Given the description of an element on the screen output the (x, y) to click on. 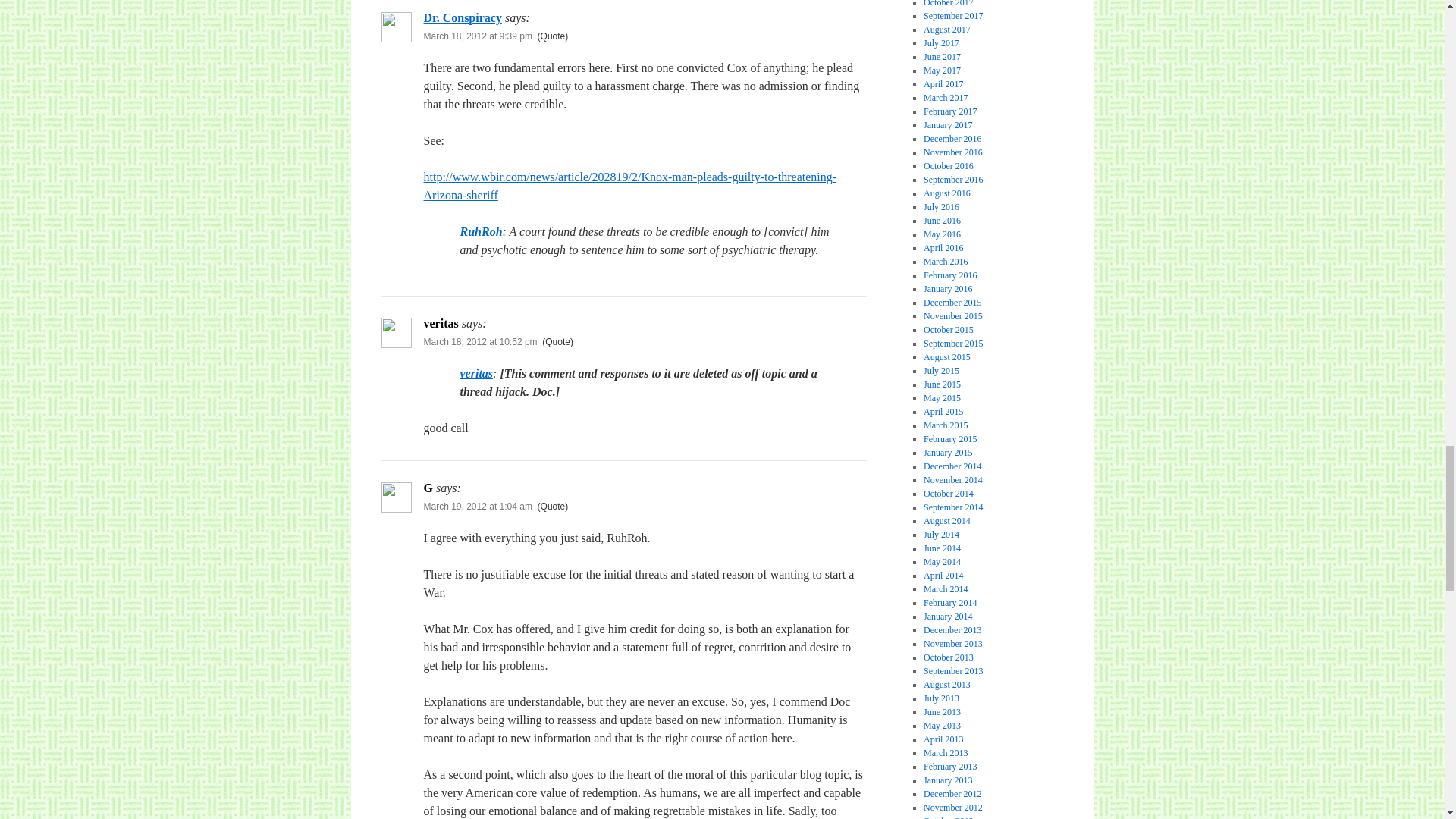
Click here or select text to quote comment (557, 341)
Click here or select text to quote comment (553, 36)
Click here or select text to quote comment (553, 506)
